Given the description of an element on the screen output the (x, y) to click on. 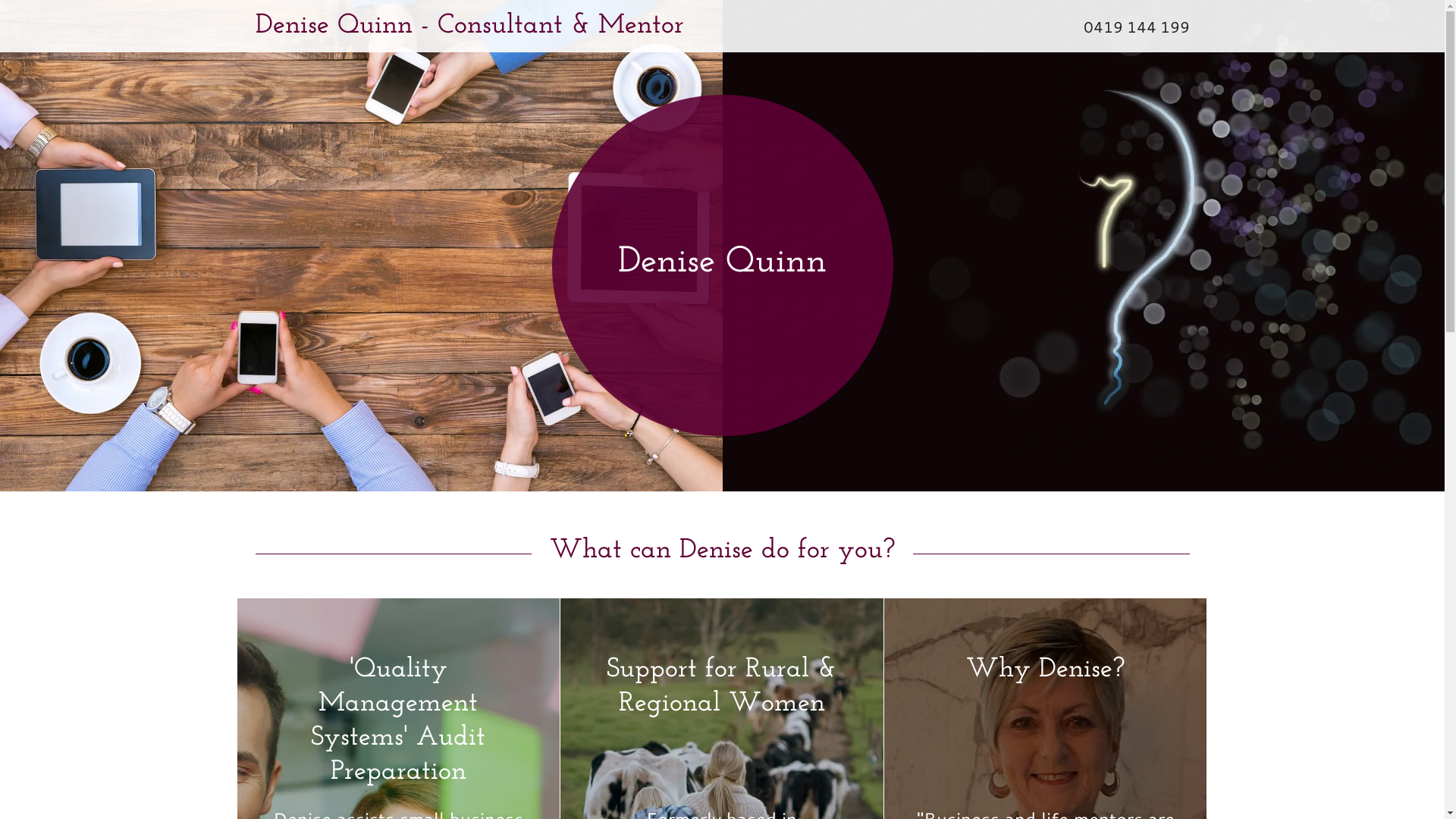
0419 144 199 Element type: text (1135, 25)
Denise Quinn - Consultant & Mentor Element type: text (591, 27)
